Given the description of an element on the screen output the (x, y) to click on. 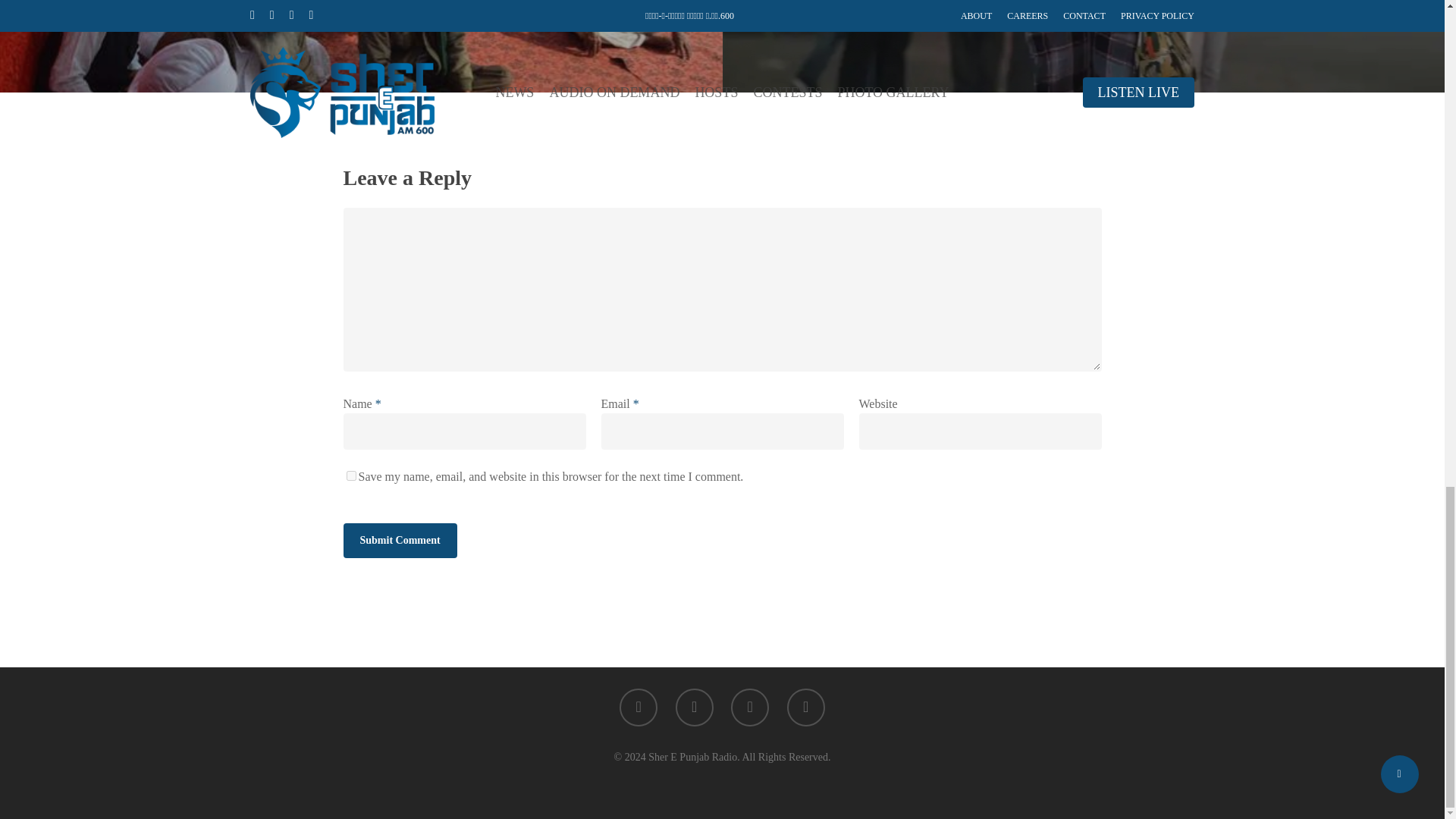
yes (350, 475)
Submit Comment (399, 540)
Submit Comment (399, 540)
